Given the description of an element on the screen output the (x, y) to click on. 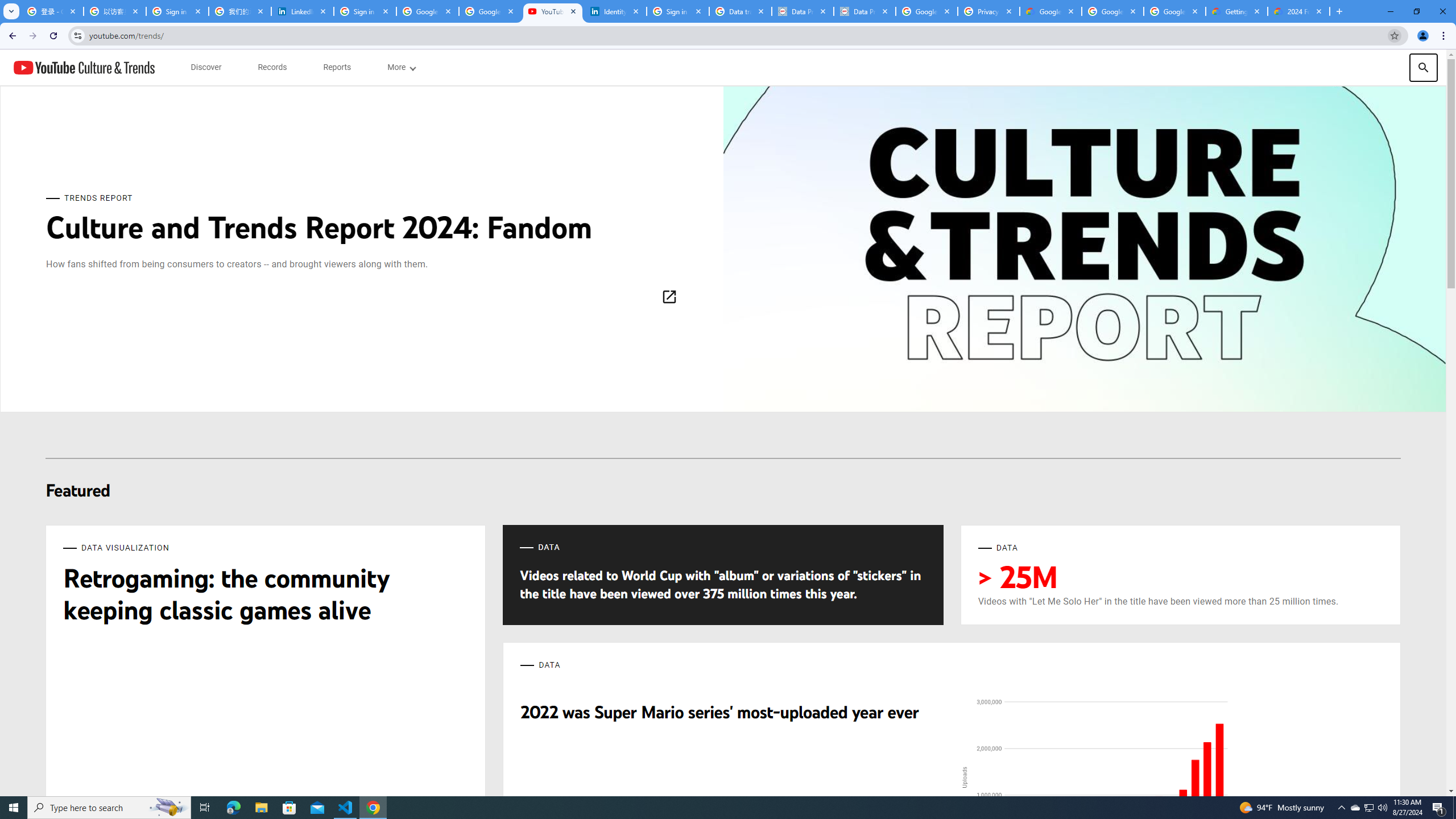
Sign in - Google Accounts (177, 11)
YouTube Culture & Trends (83, 67)
JUMP TO CONTENT (118, 67)
subnav-More menupopup (400, 67)
Google Workspace - Specific Terms (1111, 11)
